Given the description of an element on the screen output the (x, y) to click on. 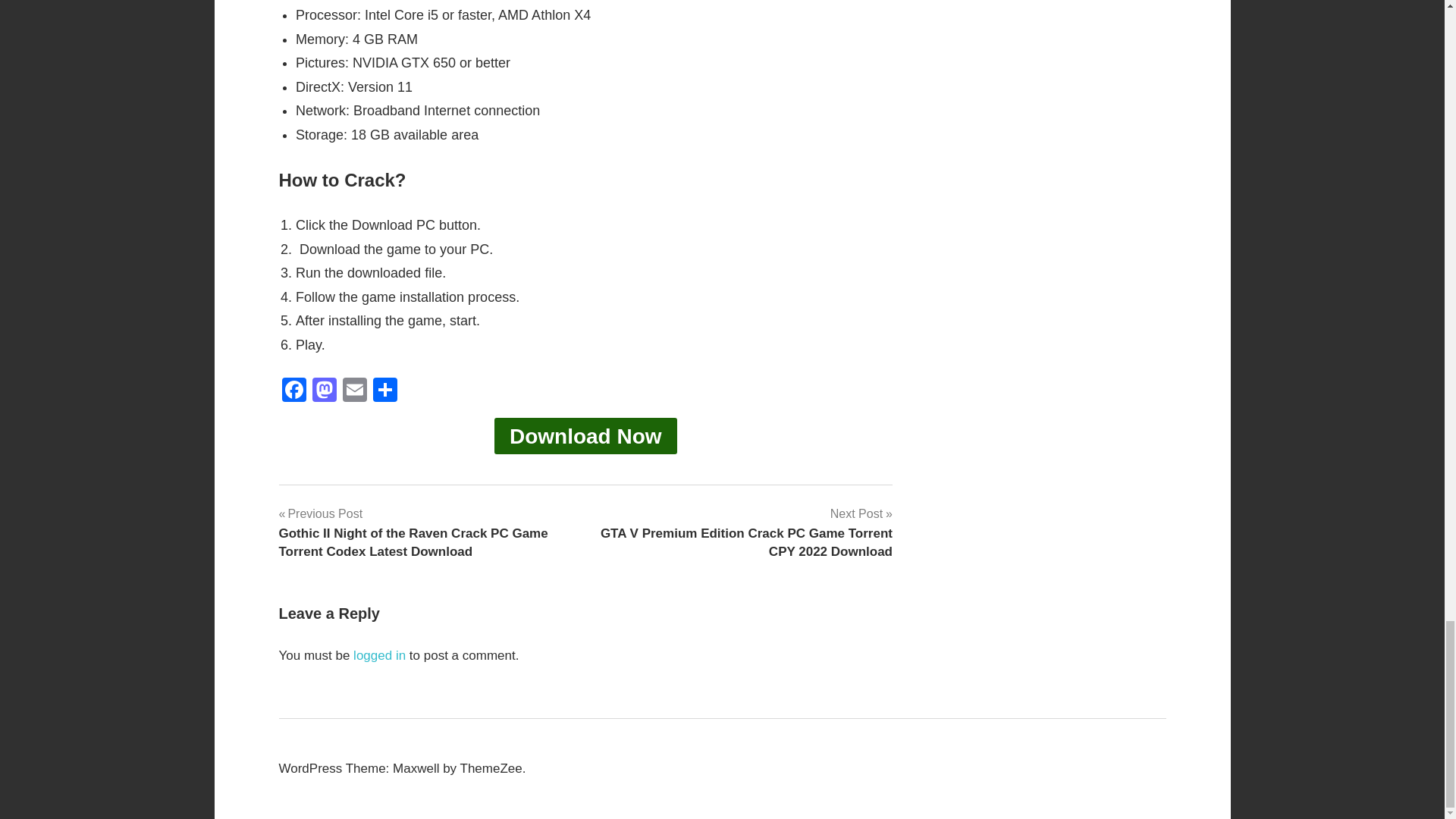
Mastodon (323, 391)
Facebook (293, 391)
Mastodon (323, 391)
Download Now (586, 435)
Email (354, 391)
Email (354, 391)
Facebook (293, 391)
Share (384, 391)
